Given the description of an element on the screen output the (x, y) to click on. 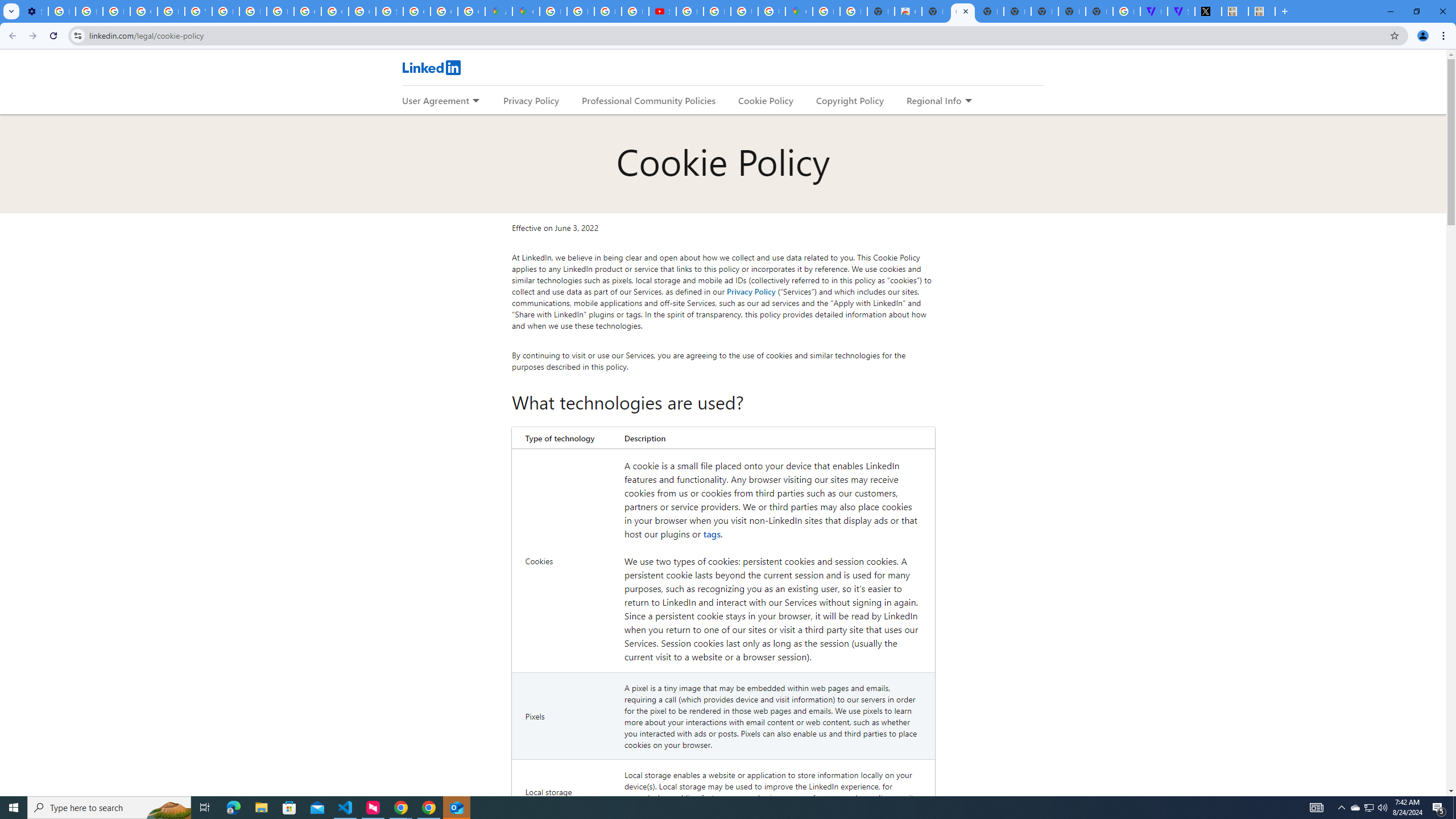
Privacy Help Center - Policies Help (170, 11)
Chrome (1445, 35)
Chrome Web Store (908, 11)
Google Account Help (144, 11)
Miley Cyrus (@MileyCyrus) / X (1208, 11)
https://scholar.google.com/ (225, 11)
Sign in - Google Accounts (389, 11)
Streaming - The Verge (1180, 11)
Address and search bar (735, 35)
Privacy Help Center - Policies Help (253, 11)
View site information (77, 35)
Reload (52, 35)
